Given the description of an element on the screen output the (x, y) to click on. 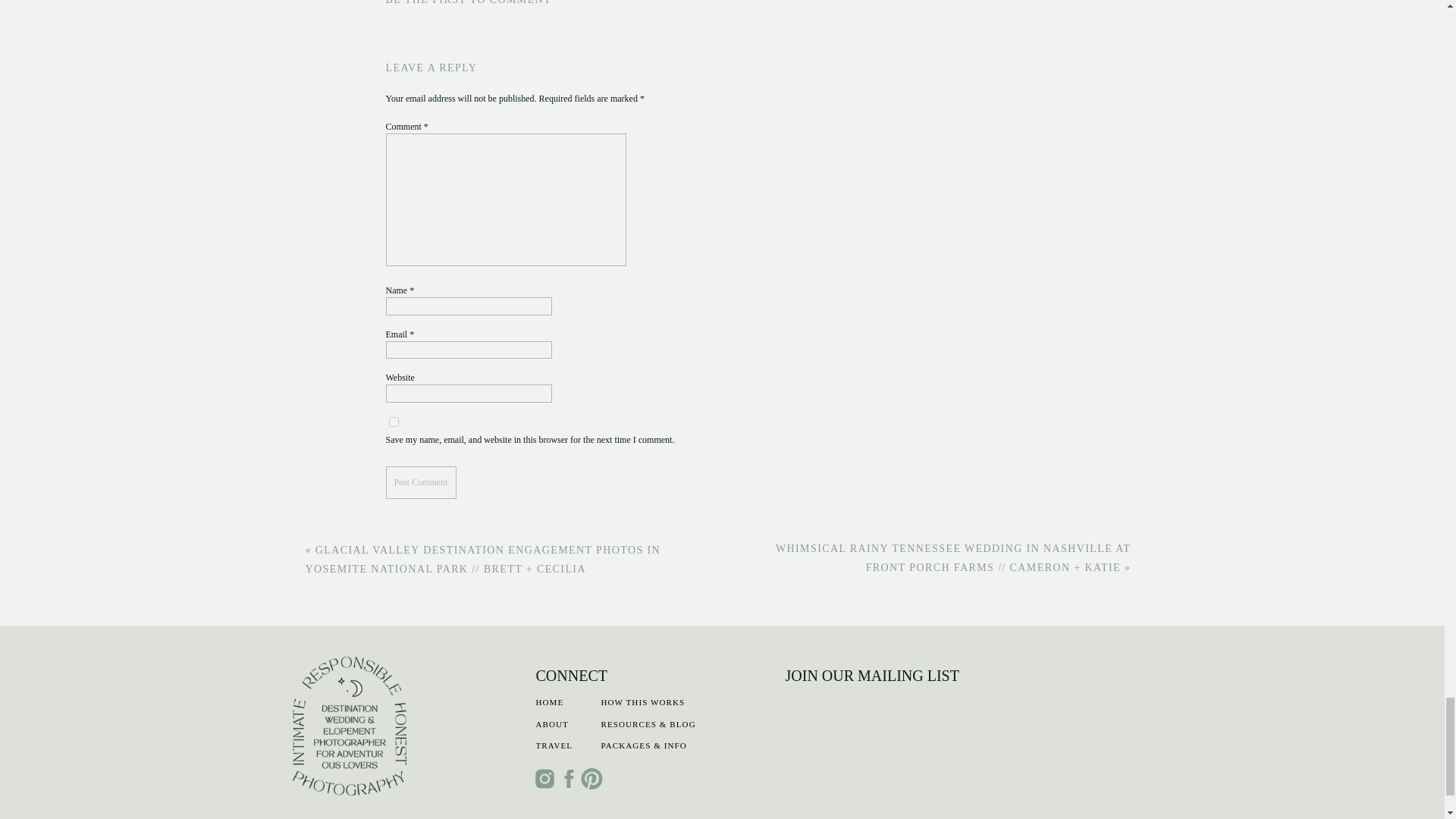
HOME (569, 704)
BE THE FIRST TO COMMENT (468, 2)
ABOUT (566, 726)
HOW THIS WORKS (670, 704)
yes (392, 421)
Post Comment (420, 482)
TRAVEL (579, 748)
Post Comment (420, 482)
